Given the description of an element on the screen output the (x, y) to click on. 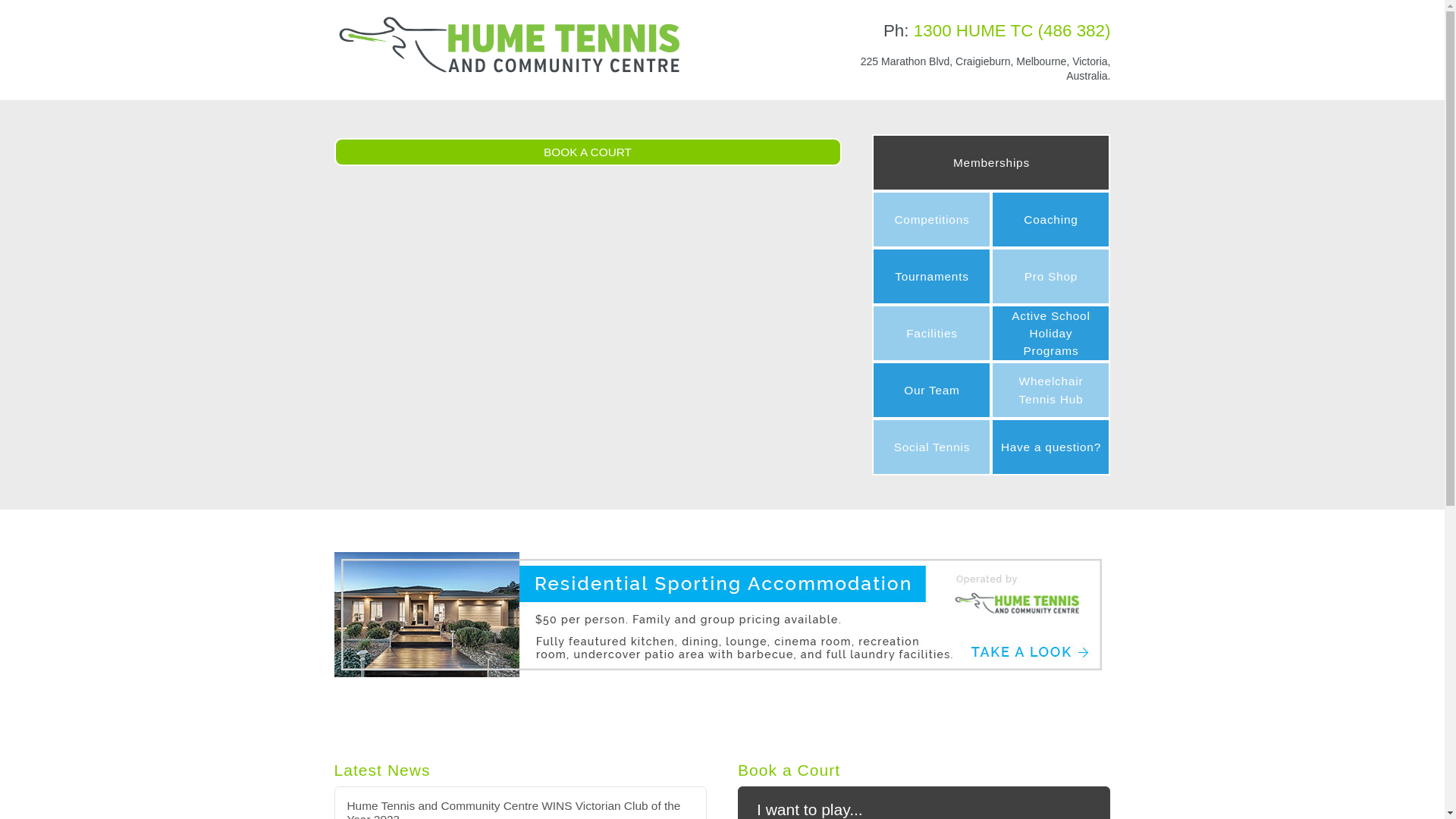
Wheelchair Tennis Hub Element type: text (1050, 389)
Have a question? Element type: text (1050, 446)
Active School Holiday Programs Element type: text (1050, 332)
Our Team Element type: text (931, 389)
Memberships Element type: text (991, 162)
1300 HUME TC (486 382) Element type: text (1011, 30)
Hume-Tennis-Craigieburn-House Element type: hover (721, 614)
Facilities Element type: text (931, 332)
BOOK A COURT Element type: text (587, 152)
Social Tennis Element type: text (931, 446)
Coaching Element type: text (1050, 219)
Competitions Element type: text (931, 219)
Tournaments Element type: text (931, 275)
Pro Shop Element type: text (1050, 275)
